Given the description of an element on the screen output the (x, y) to click on. 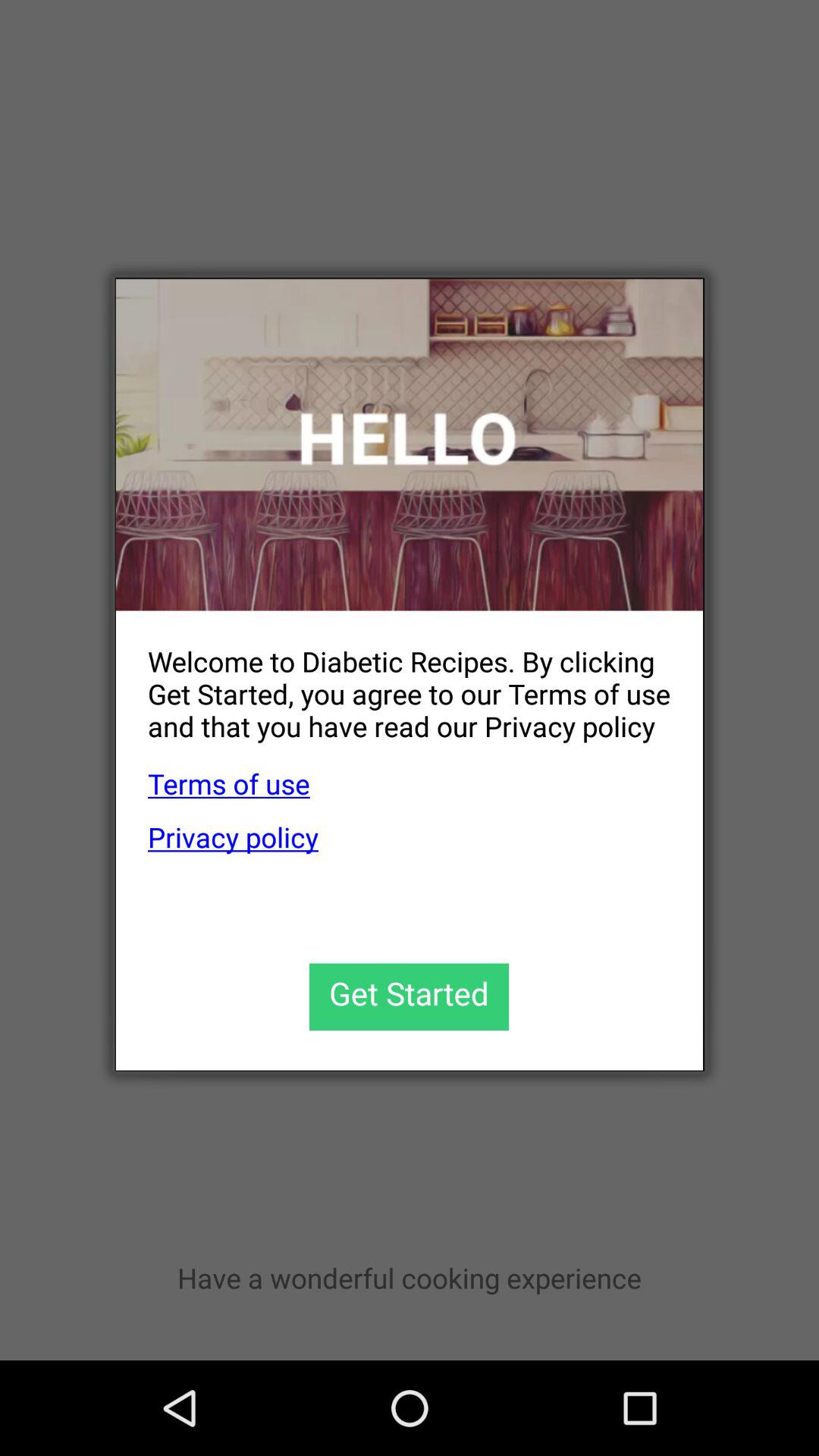
click the item above the terms of use icon (393, 681)
